Given the description of an element on the screen output the (x, y) to click on. 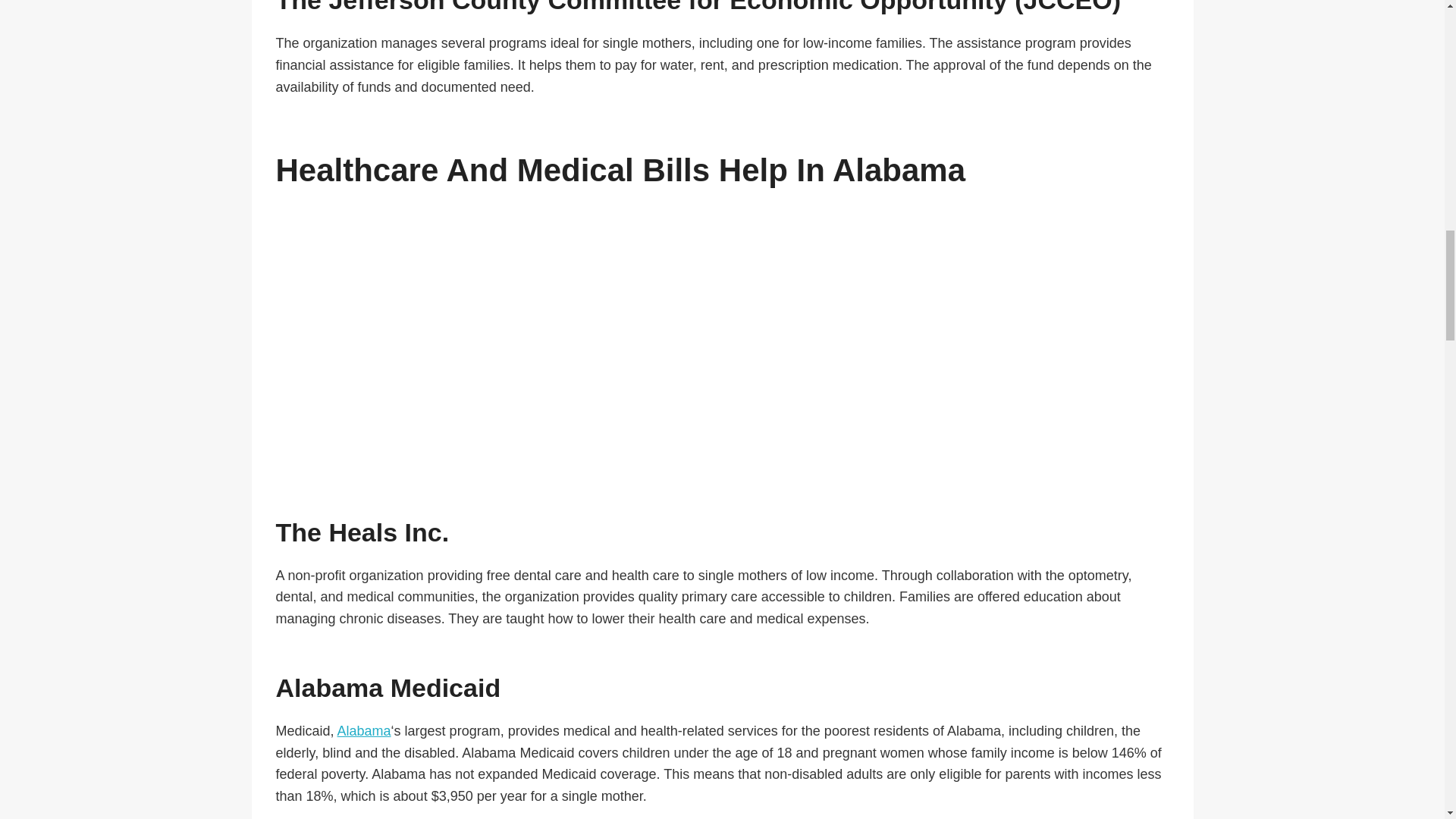
Help With Bills In Alabama - Do You Know? 2 (722, 341)
